Given the description of an element on the screen output the (x, y) to click on. 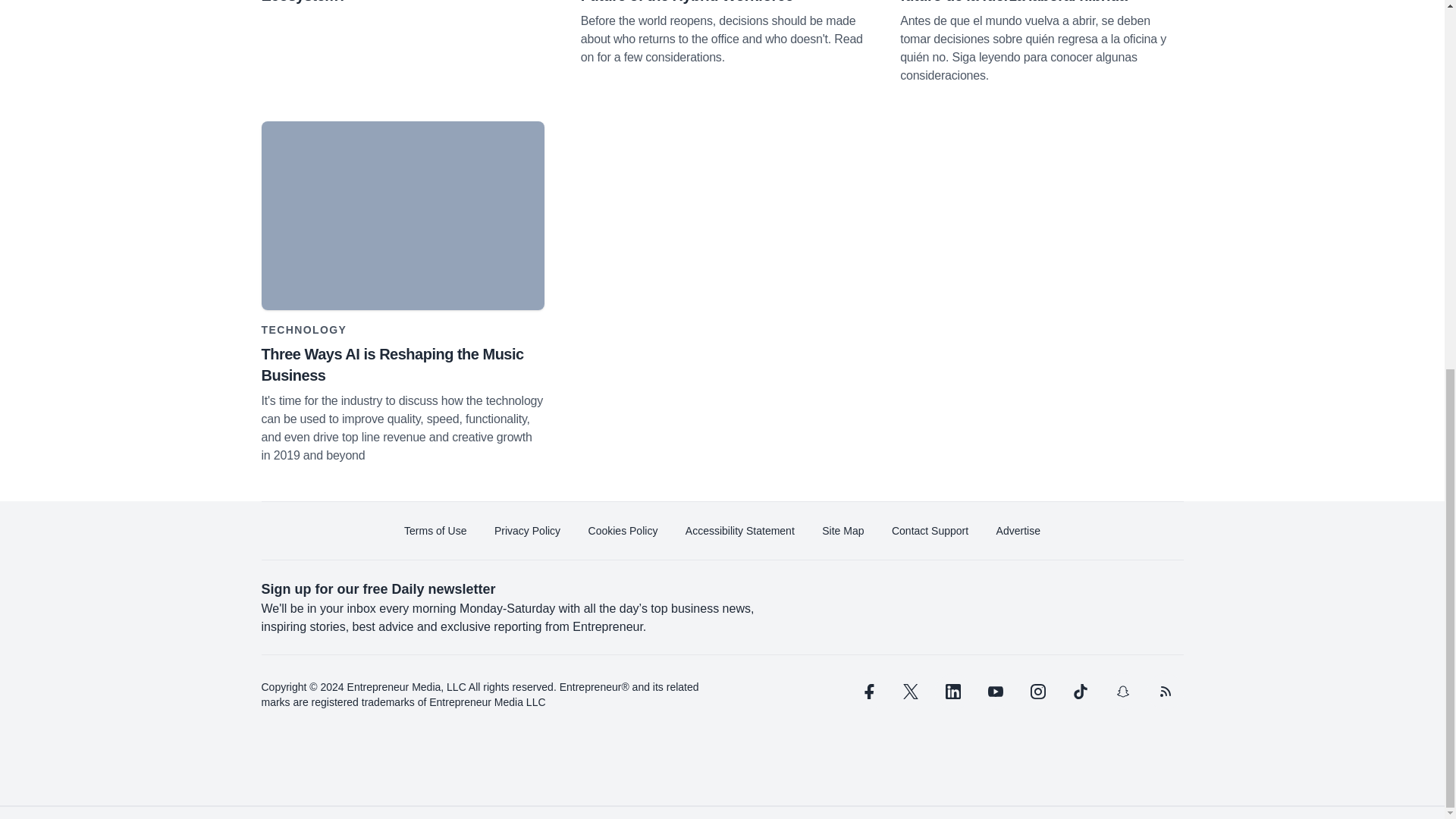
tiktok (1079, 691)
snapchat (1121, 691)
linkedin (952, 691)
twitter (909, 691)
instagram (1037, 691)
rss (1164, 691)
youtube (994, 691)
facebook (866, 691)
